Given the description of an element on the screen output the (x, y) to click on. 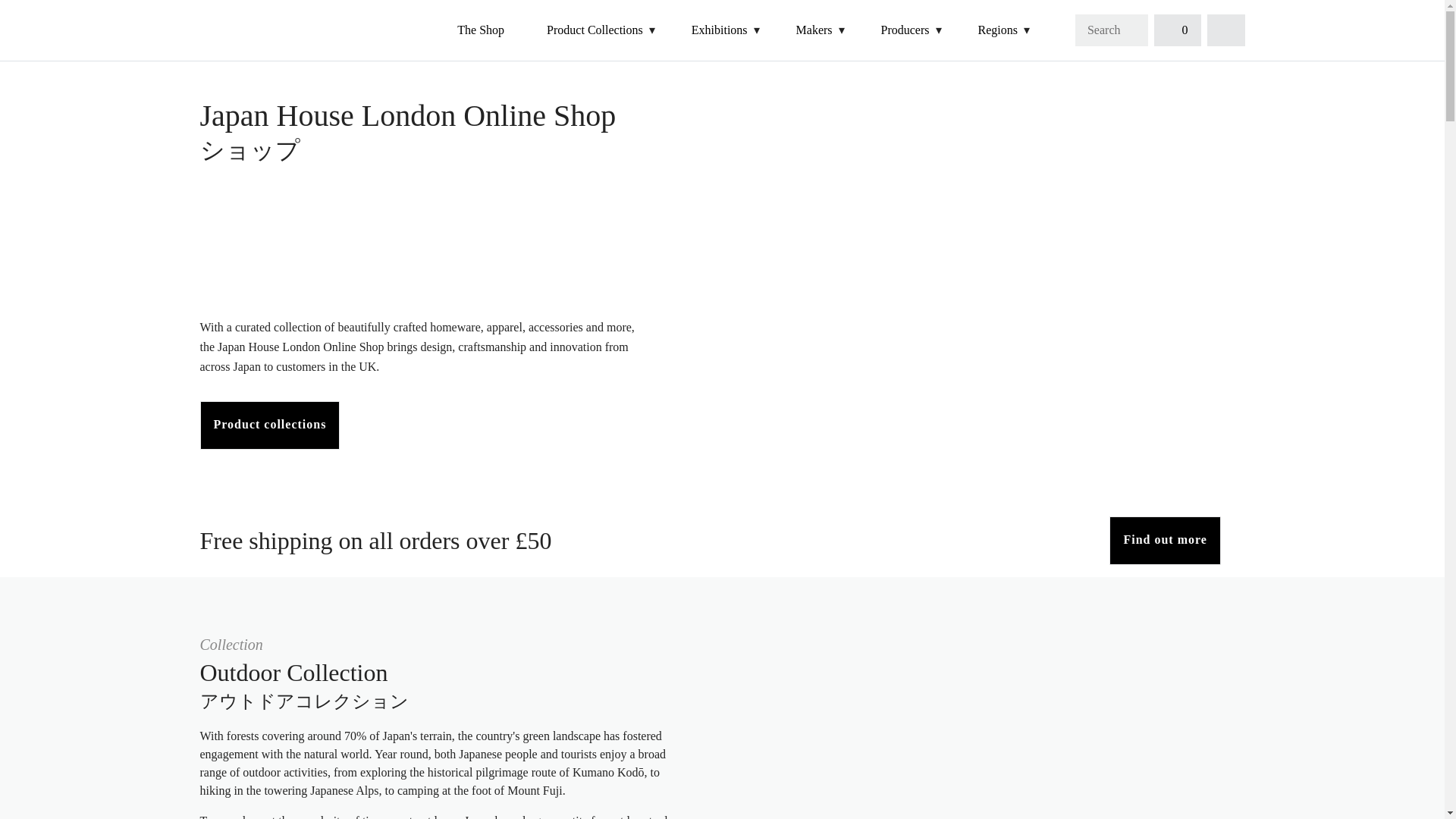
Product Collections (594, 30)
The Shop (481, 30)
